Given the description of an element on the screen output the (x, y) to click on. 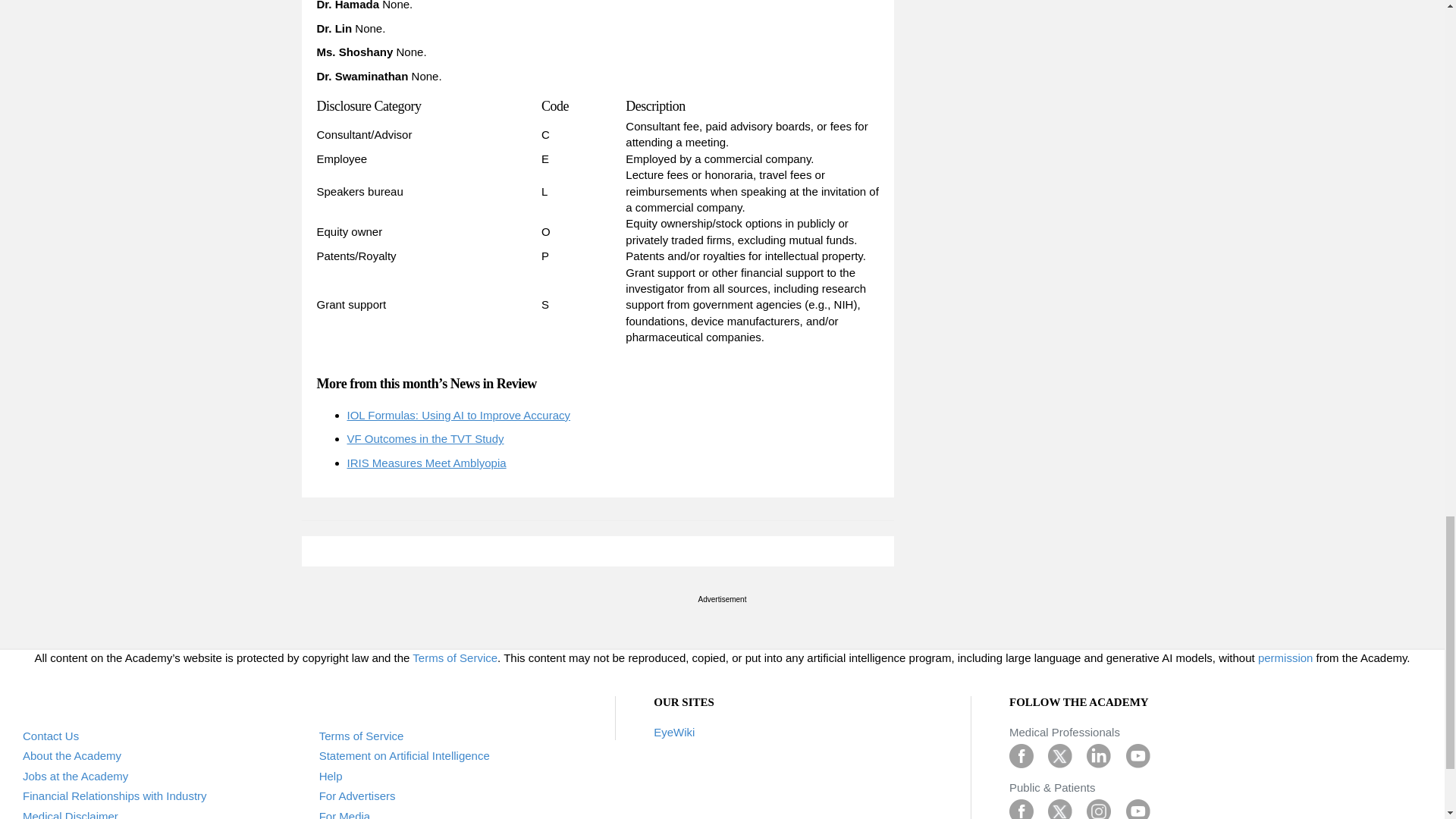
LinkedIn (1098, 754)
Facebook (1021, 809)
Twitter (1059, 809)
YouTube (1137, 809)
Twitter (1059, 754)
YouTube (1137, 754)
Facebook (1021, 754)
Instagram (1098, 809)
